Given the description of an element on the screen output the (x, y) to click on. 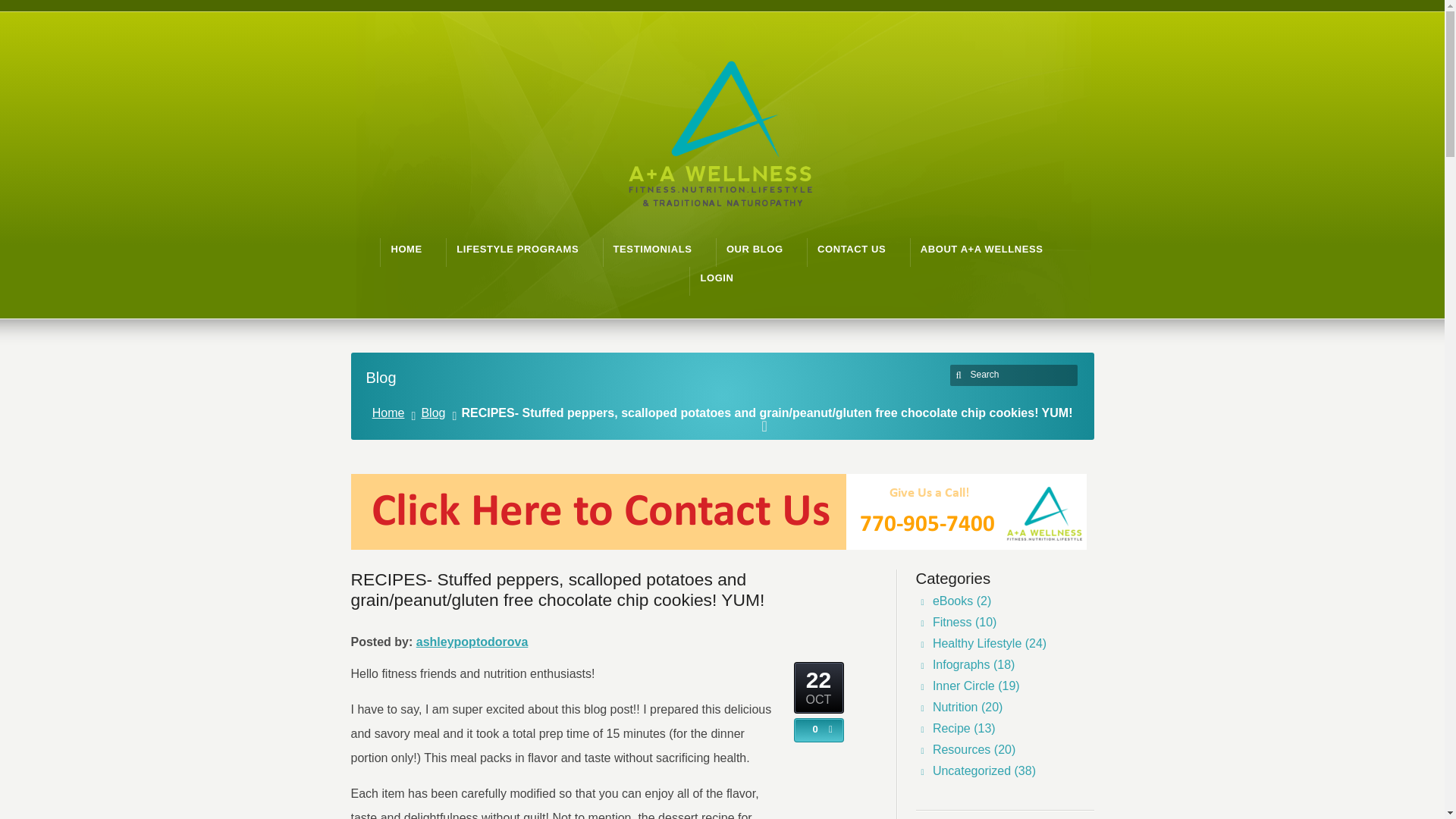
Home (391, 412)
search (960, 374)
OUR BLOG (754, 249)
LOGIN (716, 278)
search (960, 374)
Posts by ashleypoptodorova (472, 641)
Search (1016, 374)
ashleypoptodorova (472, 641)
search (960, 374)
0 (811, 728)
Blog (435, 412)
CONTACT US (850, 249)
HOME (406, 249)
TESTIMONIALS (652, 249)
LIFESTYLE PROGRAMS (517, 249)
